Given the description of an element on the screen output the (x, y) to click on. 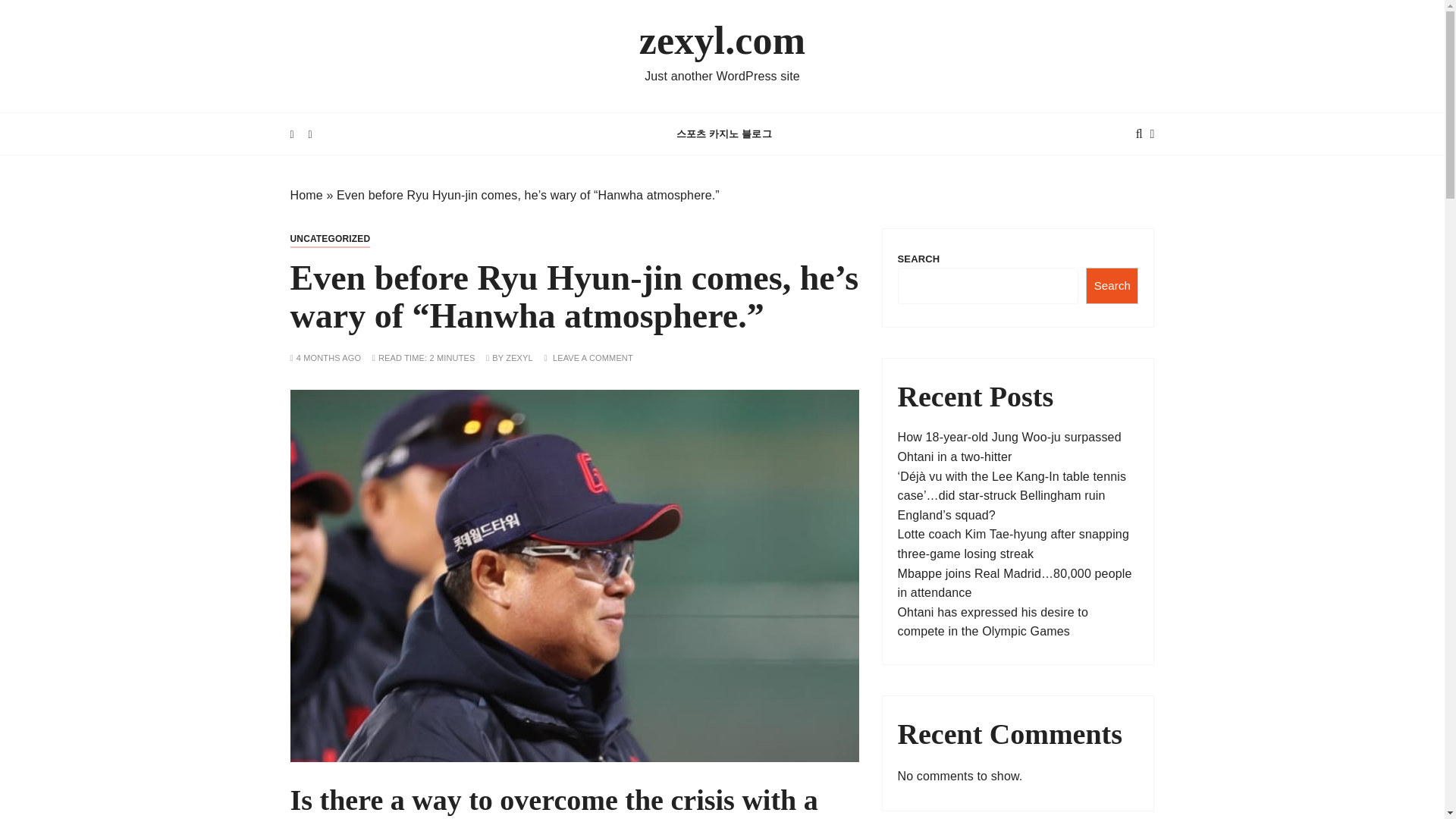
LEAVE A COMMENT (593, 357)
Home (305, 195)
ZEXYL (518, 357)
How 18-year-old Jung Woo-ju surpassed Ohtani in a two-hitter (1009, 446)
zexyl.com (722, 40)
UNCATEGORIZED (329, 239)
Search (1112, 285)
